Given the description of an element on the screen output the (x, y) to click on. 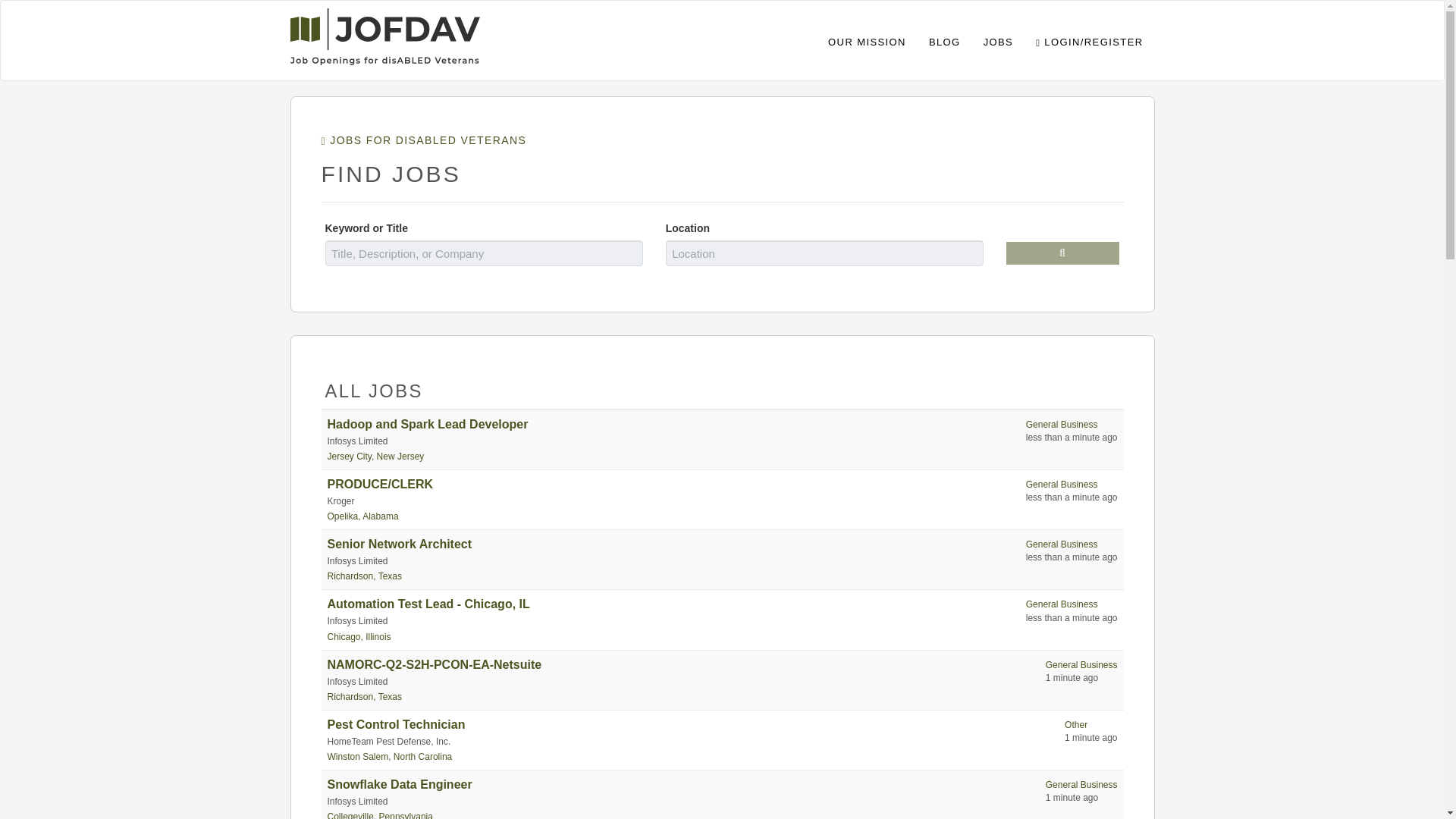
Richardson, Texas (365, 575)
General Business (1061, 603)
Pest Control Technician (396, 724)
General Business (1061, 484)
Opelika, Alabama (362, 516)
Hadoop and Spark Lead Developer (427, 423)
Jersey City, New Jersey (376, 456)
General Business (1081, 665)
GO TO HOMEPAGE (384, 32)
Senior Network Architect (399, 543)
Snowflake Data Engineer (399, 784)
Chicago, Illinois (359, 636)
Collegeville, Pennsylvania (379, 815)
OUR MISSION (866, 40)
Other (1075, 724)
